Given the description of an element on the screen output the (x, y) to click on. 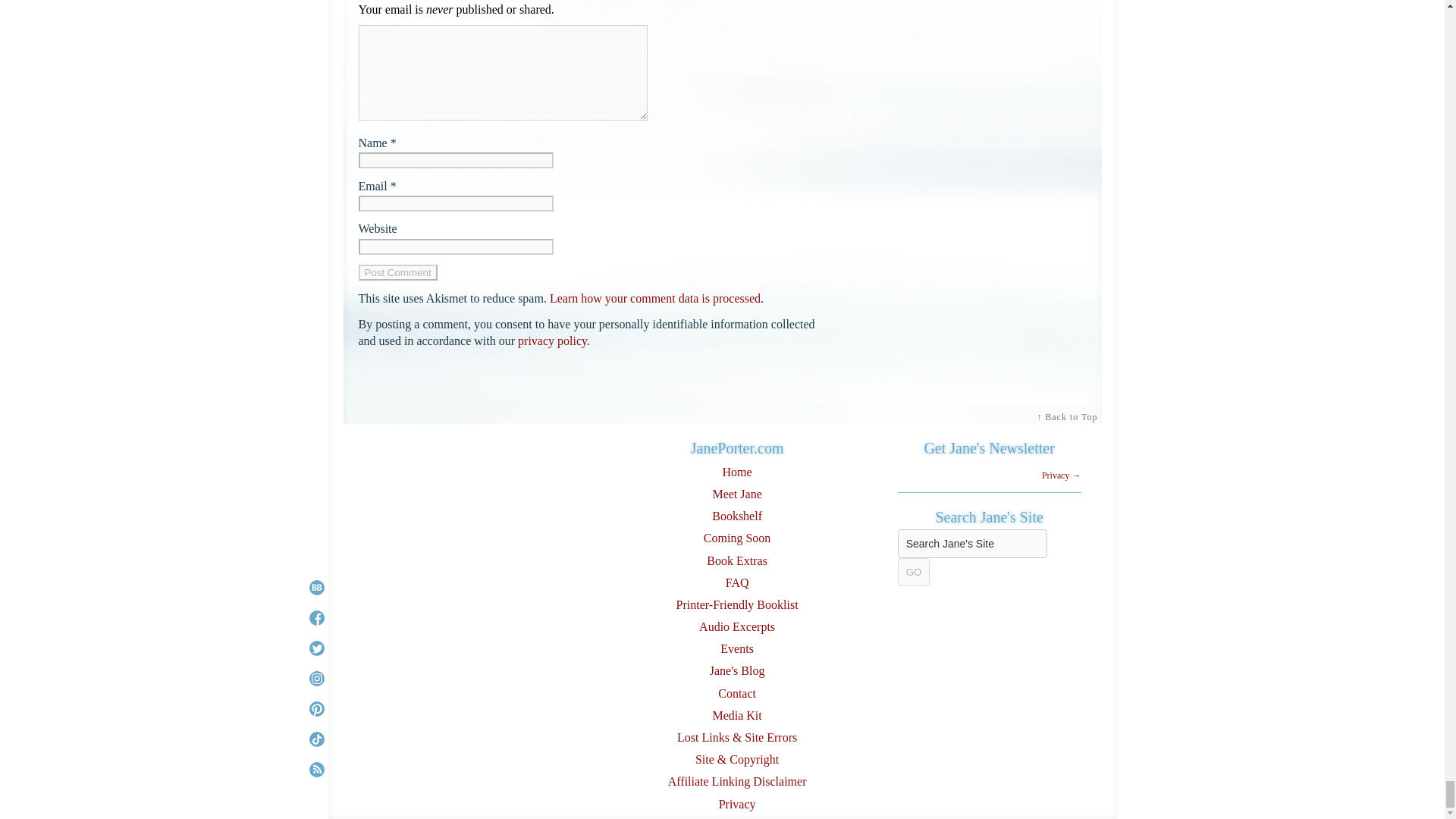
Search Jane's Site (972, 543)
GO (914, 571)
Post Comment (397, 272)
Search for: (972, 543)
Search Jane's Site (972, 543)
